Given the description of an element on the screen output the (x, y) to click on. 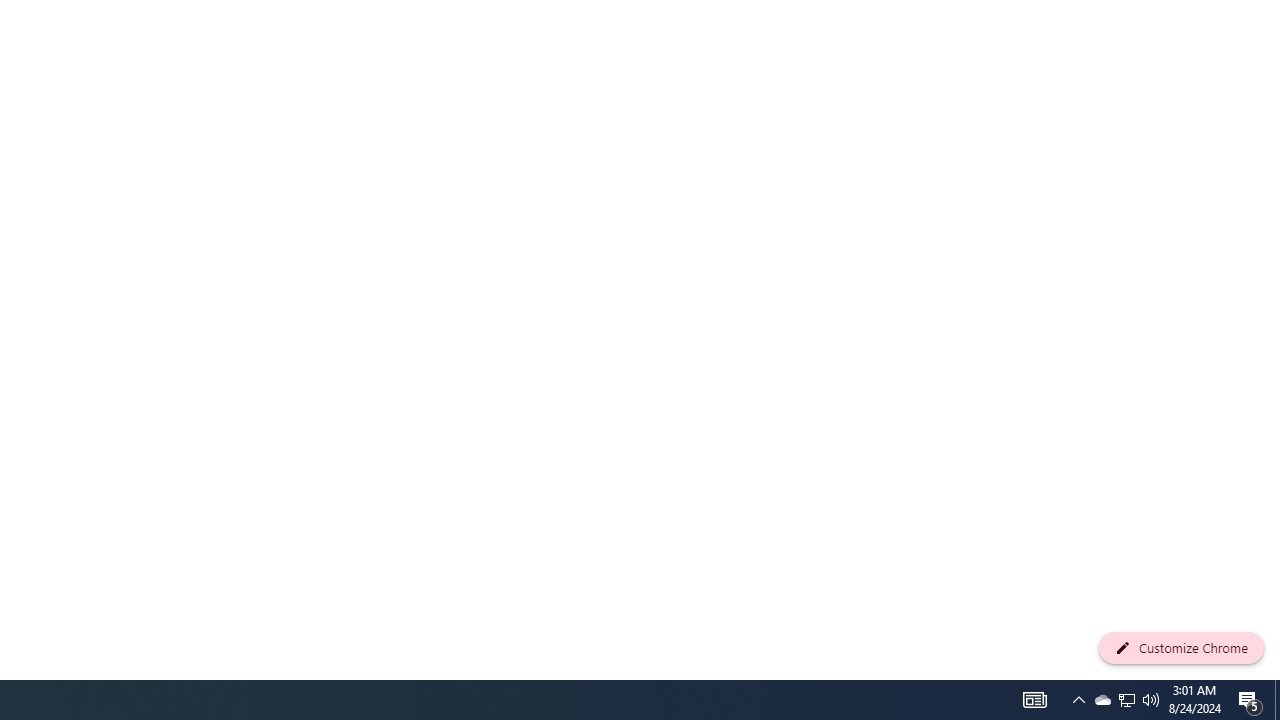
Customize Chrome (1181, 647)
